Given the description of an element on the screen output the (x, y) to click on. 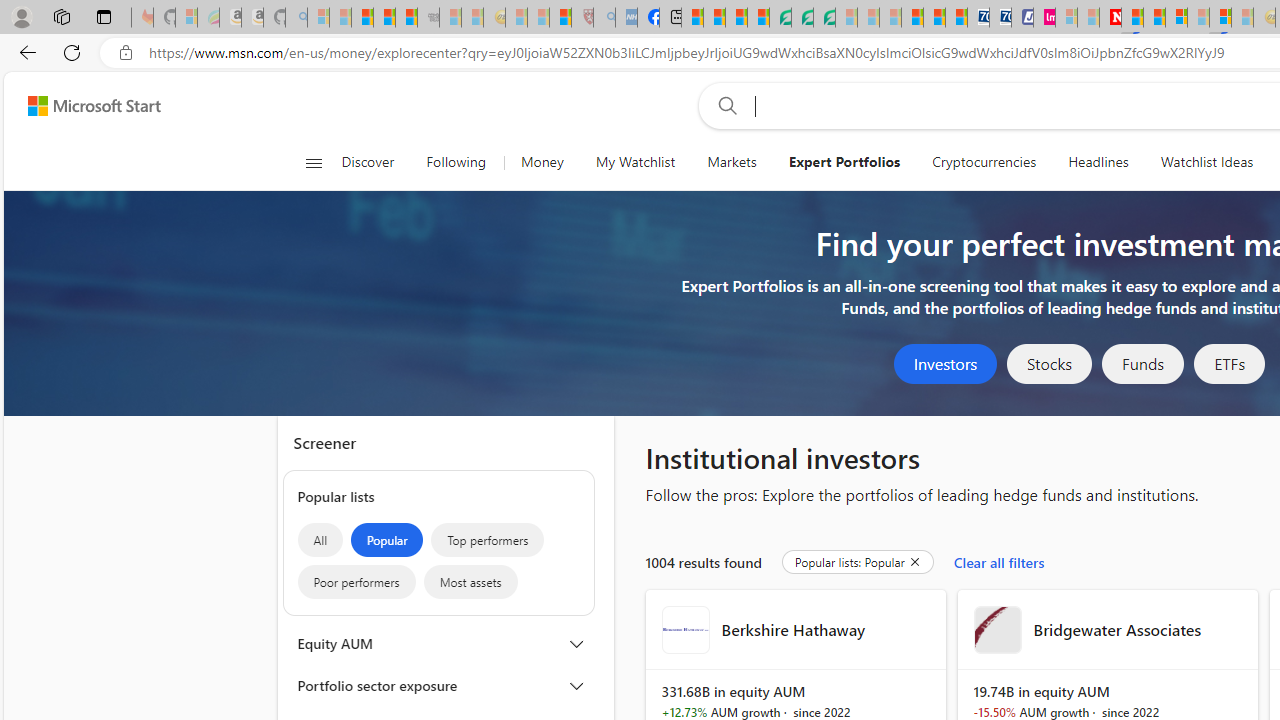
The Weather Channel - MSN (362, 17)
Latest Politics News & Archive | Newsweek.com (1110, 17)
Markets (732, 162)
Poor performers (356, 582)
Cryptocurrencies (984, 162)
Microsoft Word - consumer-privacy address update 2.2021 (824, 17)
ETFs (1229, 363)
My Watchlist (635, 162)
Top performers (488, 539)
All (320, 539)
